Given the description of an element on the screen output the (x, y) to click on. 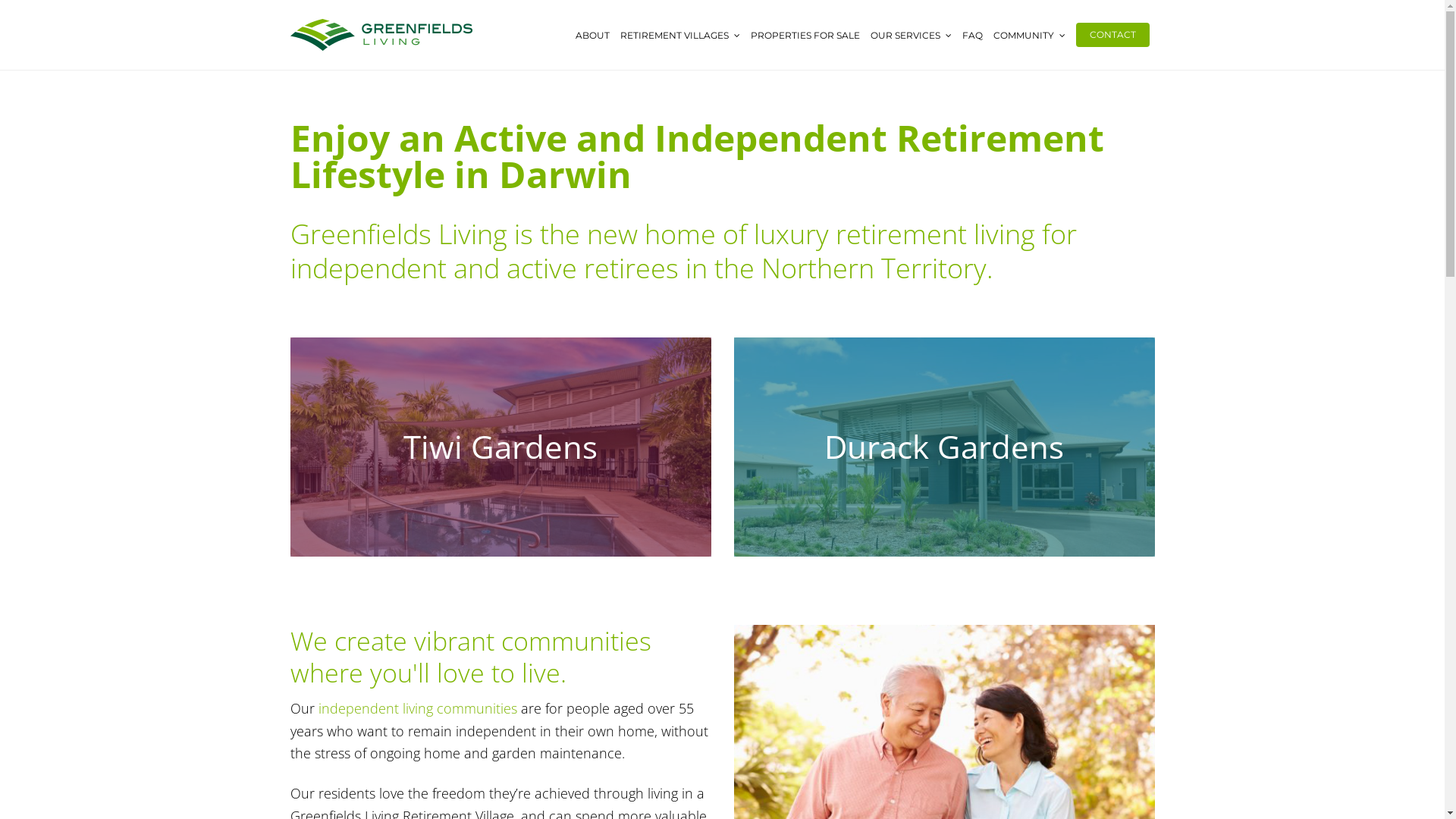
ABOUT Element type: text (592, 34)
PROPERTIES FOR SALE Element type: text (804, 34)
Greenfields Durack - Print-1_E Element type: hover (944, 445)
independent living communities Element type: text (417, 708)
COMMUNITY Element type: text (1028, 34)
Green fields living Area lifestyle images - Web (7 of 29) Element type: hover (499, 445)
RETIREMENT VILLAGES Element type: text (679, 34)
FAQ Element type: text (972, 34)
CONTACT Element type: text (1112, 34)
